Given the description of an element on the screen output the (x, y) to click on. 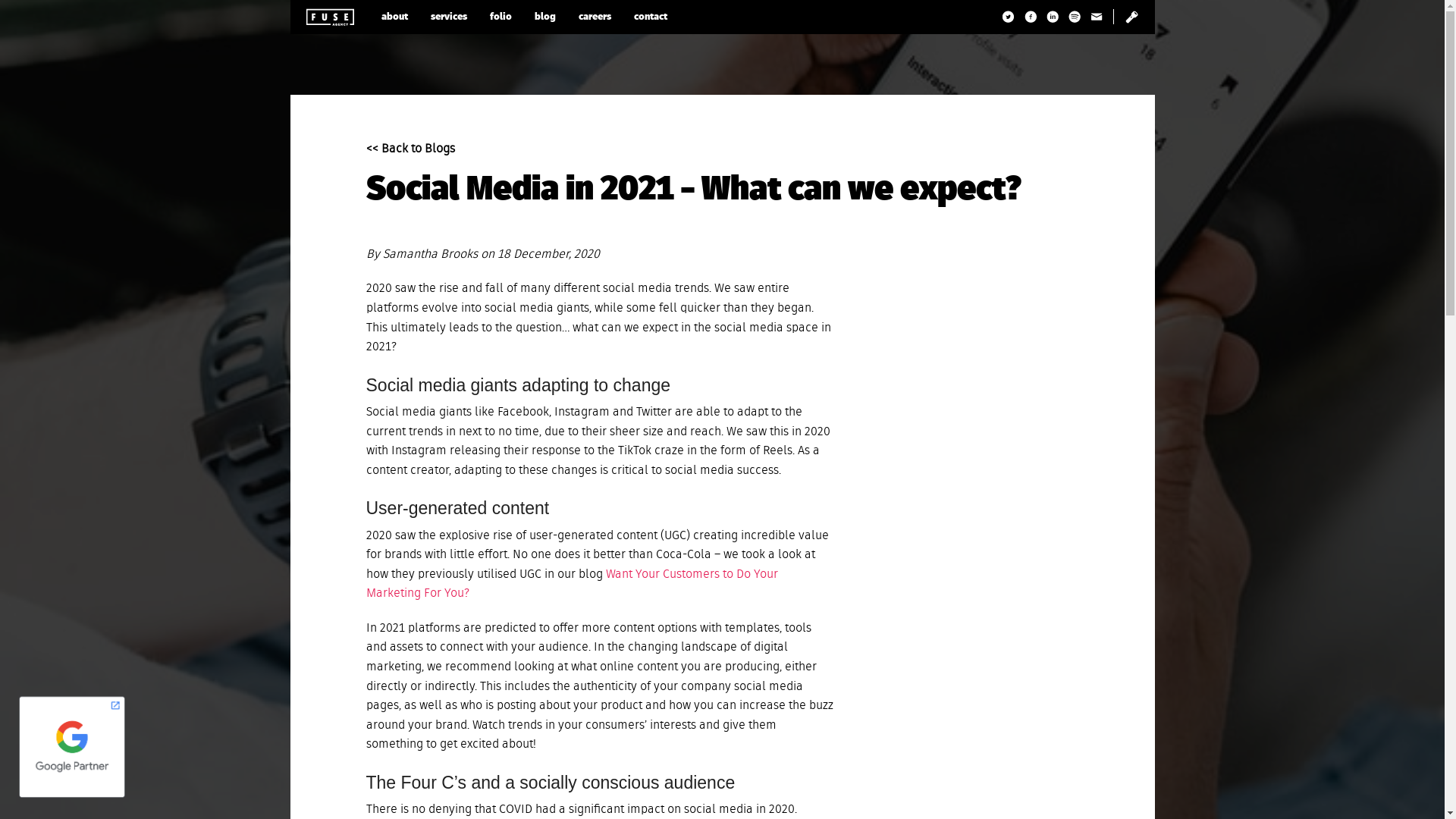
Spotify Element type: hover (1073, 16)
Facebook Element type: hover (1029, 16)
folio Element type: text (499, 17)
blog Element type: text (545, 17)
Linked In Element type: hover (1052, 16)
<< Back to Blogs Element type: text (409, 149)
about Element type: text (394, 17)
services Element type: text (447, 17)
Twitter Element type: hover (1008, 16)
Fuse Agency Element type: hover (329, 17)
careers Element type: text (594, 17)
contact Element type: text (649, 17)
Email Element type: hover (1096, 16)
Want Your Customers to Do Your Marketing For You? Element type: text (571, 584)
